Given the description of an element on the screen output the (x, y) to click on. 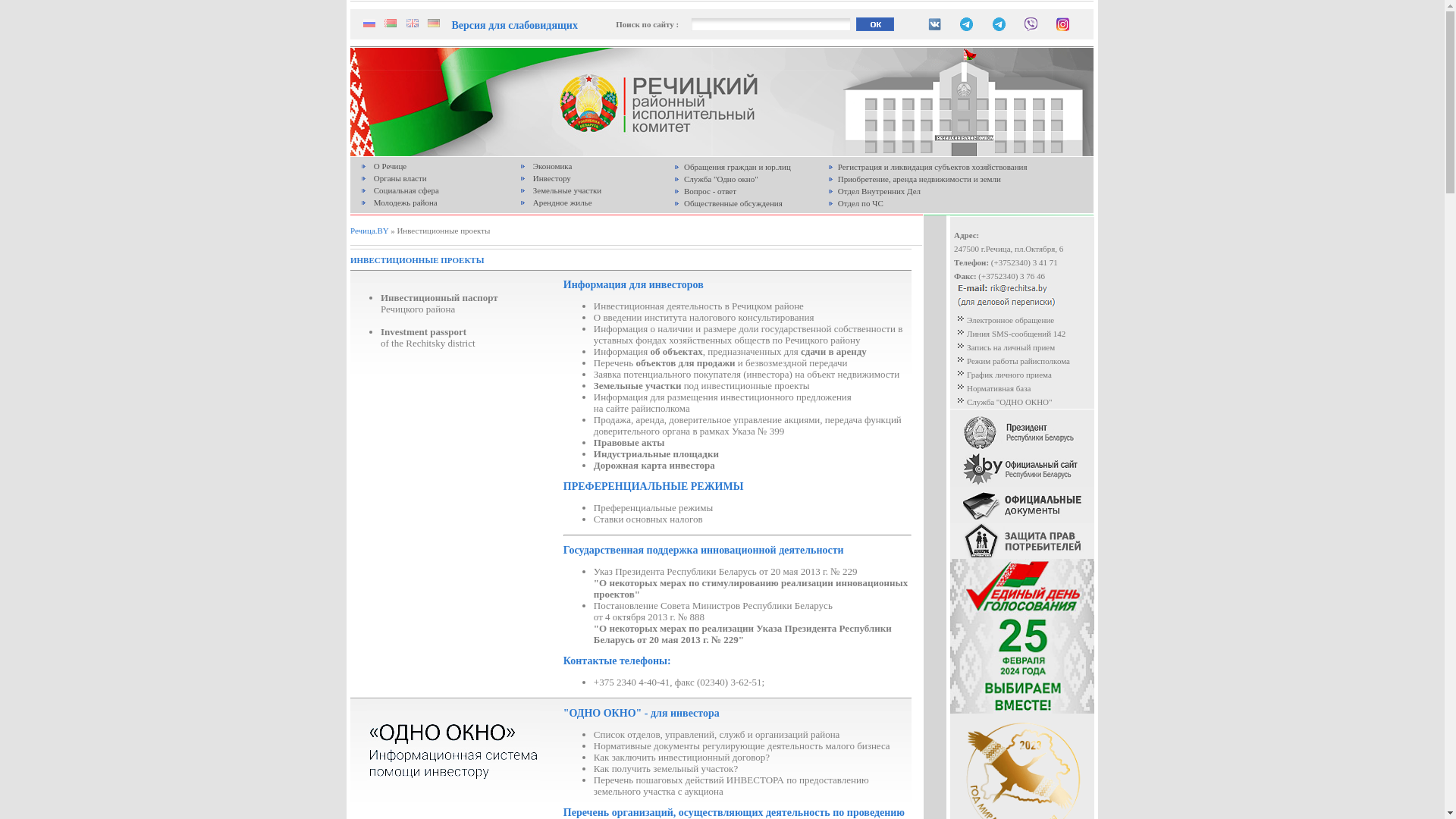
Investment passport
of the Rechitsky district Element type: text (427, 337)
